Given the description of an element on the screen output the (x, y) to click on. 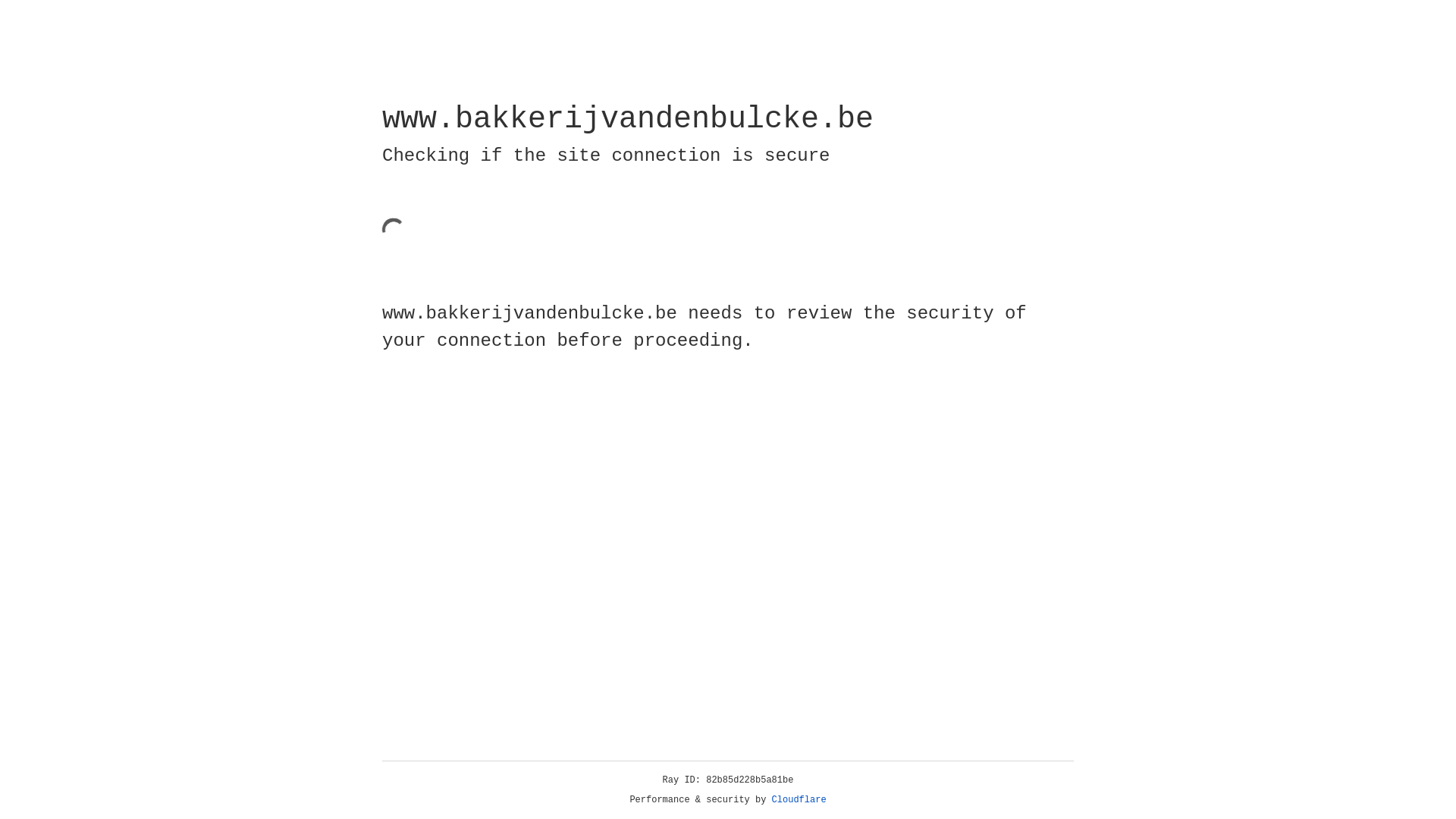
Cloudflare Element type: text (798, 799)
